Given the description of an element on the screen output the (x, y) to click on. 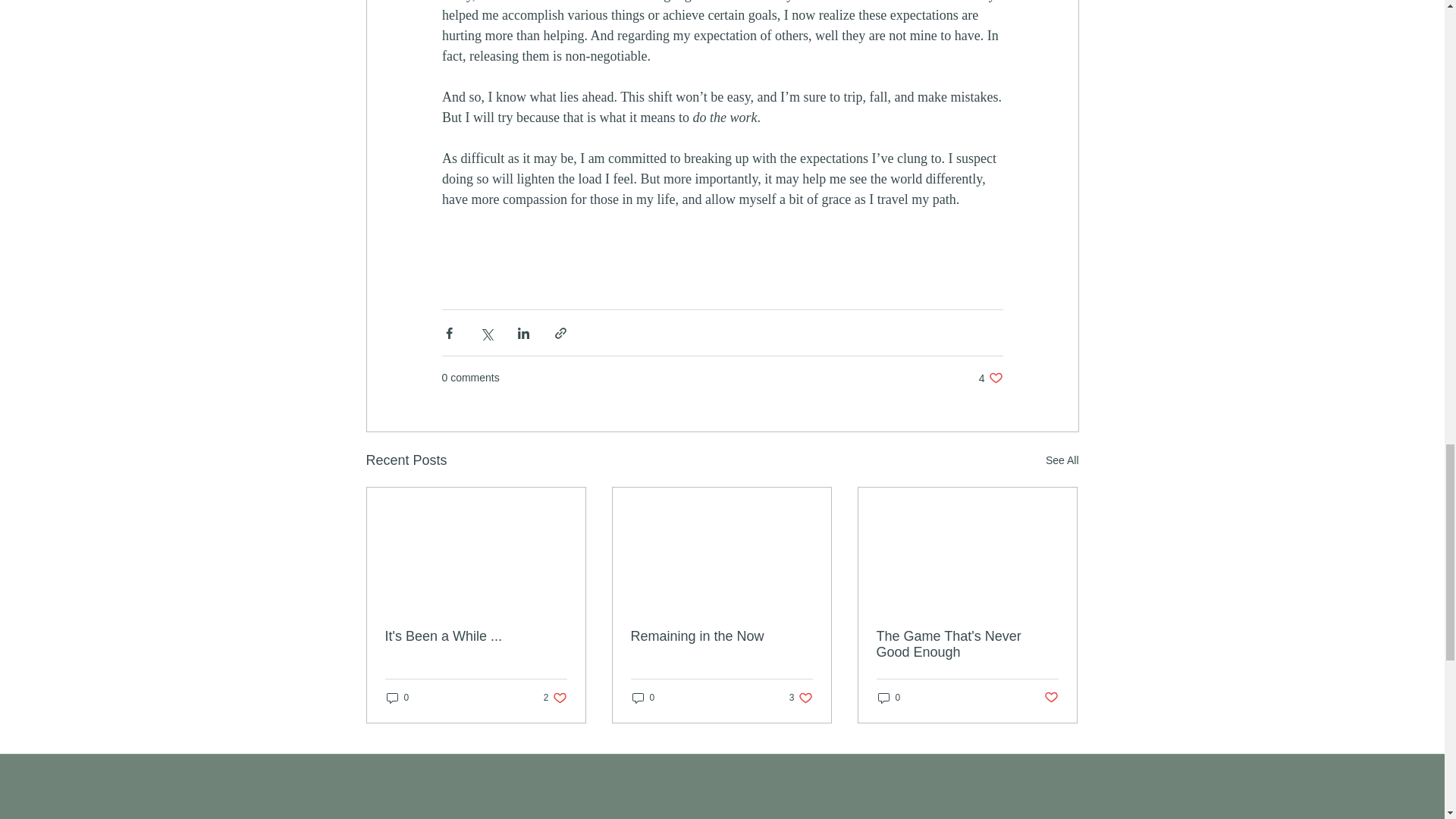
0 (555, 697)
The Game That's Never Good Enough (643, 697)
It's Been a While ... (967, 644)
0 (476, 636)
Remaining in the Now (990, 377)
Post not marked as liked (397, 697)
0 (721, 636)
See All (1050, 697)
